Given the description of an element on the screen output the (x, y) to click on. 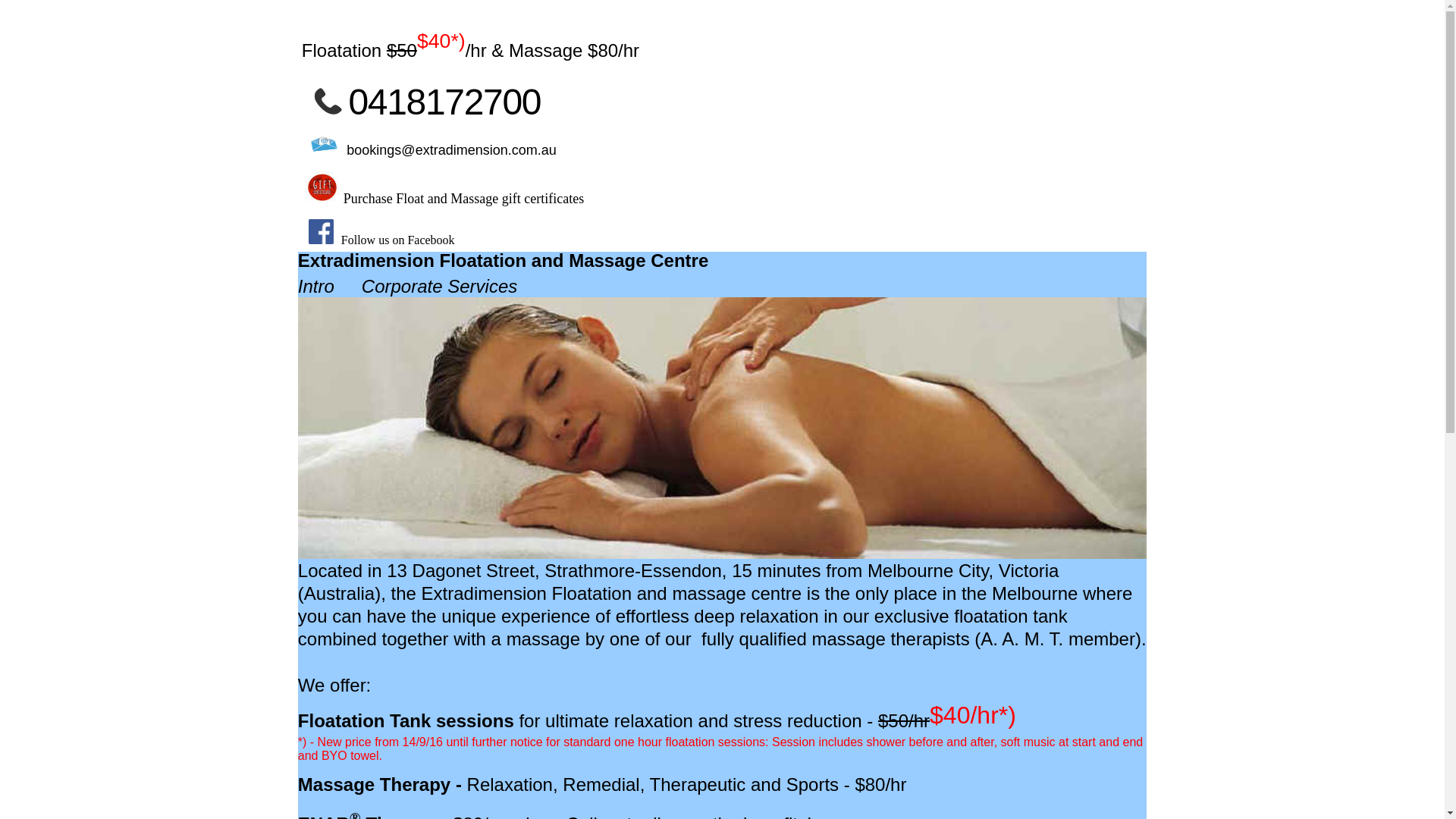
  Element type: text (324, 239)
Intro Element type: text (316, 288)
Bookings & Gift Certificates Element type: hover (325, 150)
b Element type: text (350, 150)
Purchase Float and Massage gift certificates Element type: text (463, 198)
Follow us on Facebook Element type: text (398, 239)
follow us on facebook Element type: hover (324, 239)
ookings@extradimension.com.au Element type: text (454, 149)
Corporate Services Element type: text (439, 288)
